Given the description of an element on the screen output the (x, y) to click on. 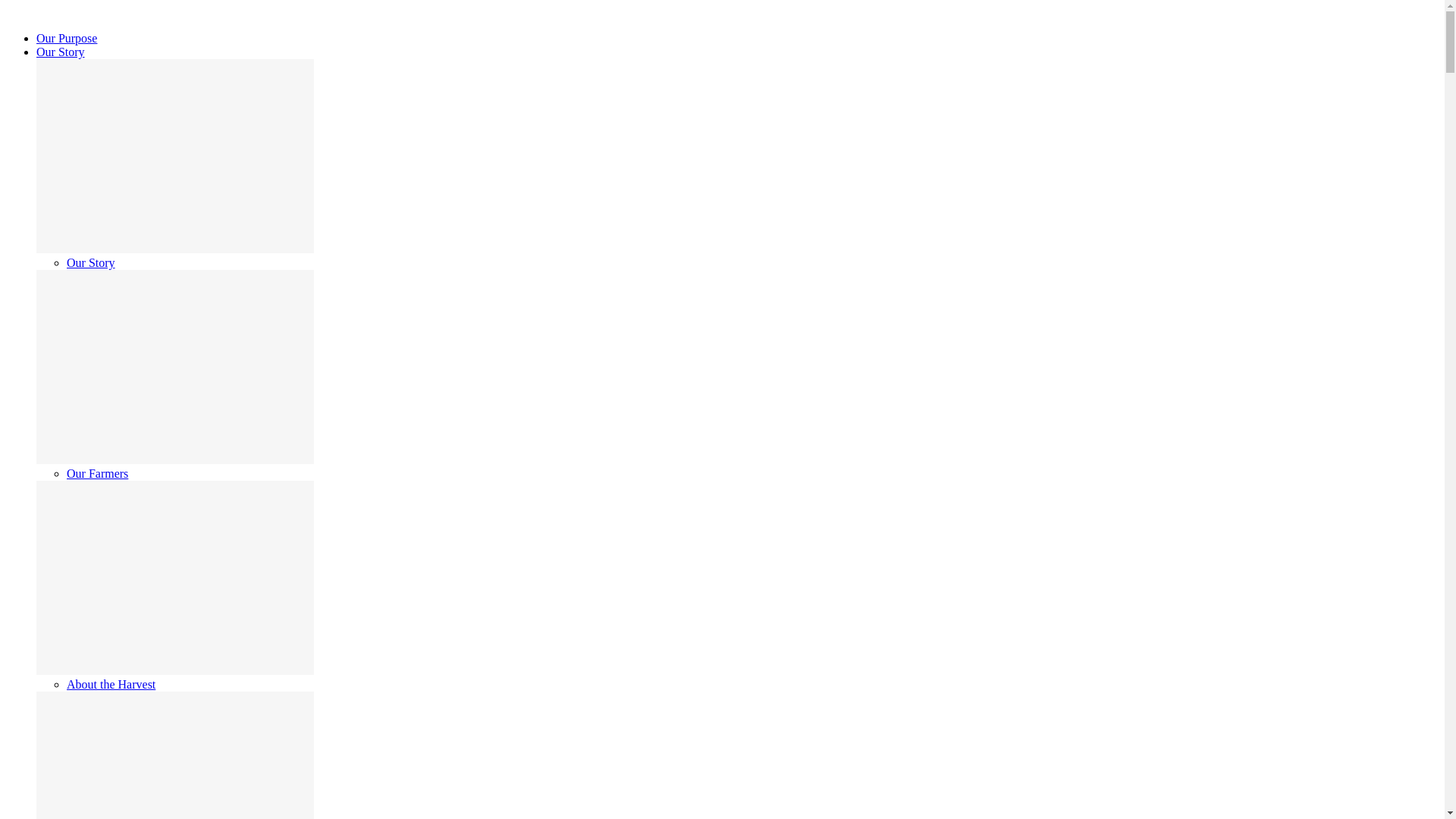
About the Harvest Element type: text (110, 683)
Our Story Element type: text (90, 262)
Our Story Element type: text (60, 51)
Our Farmers Element type: text (97, 473)
Our Purpose Element type: text (66, 37)
